Given the description of an element on the screen output the (x, y) to click on. 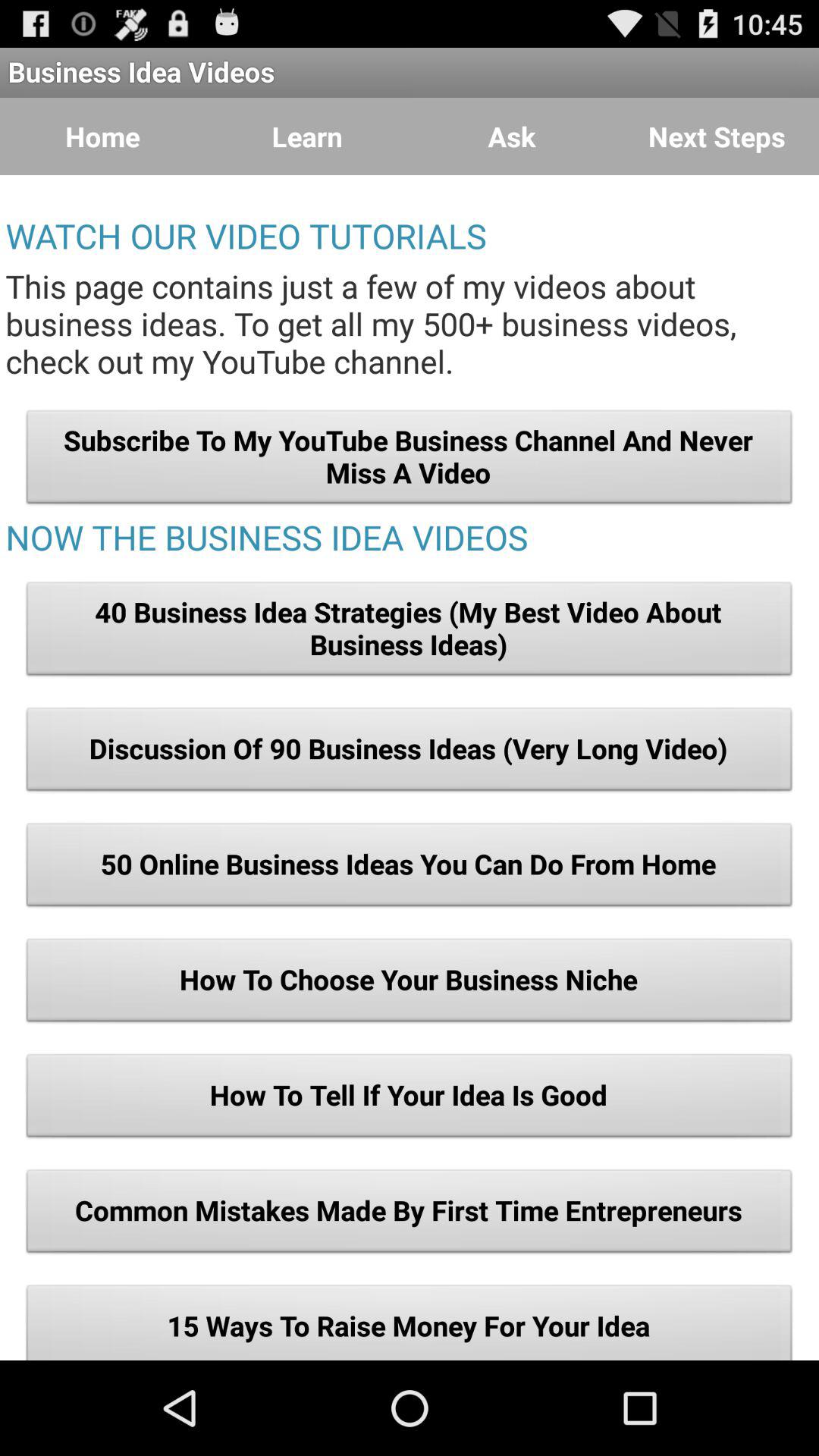
launch icon to the right of learn icon (511, 136)
